Given the description of an element on the screen output the (x, y) to click on. 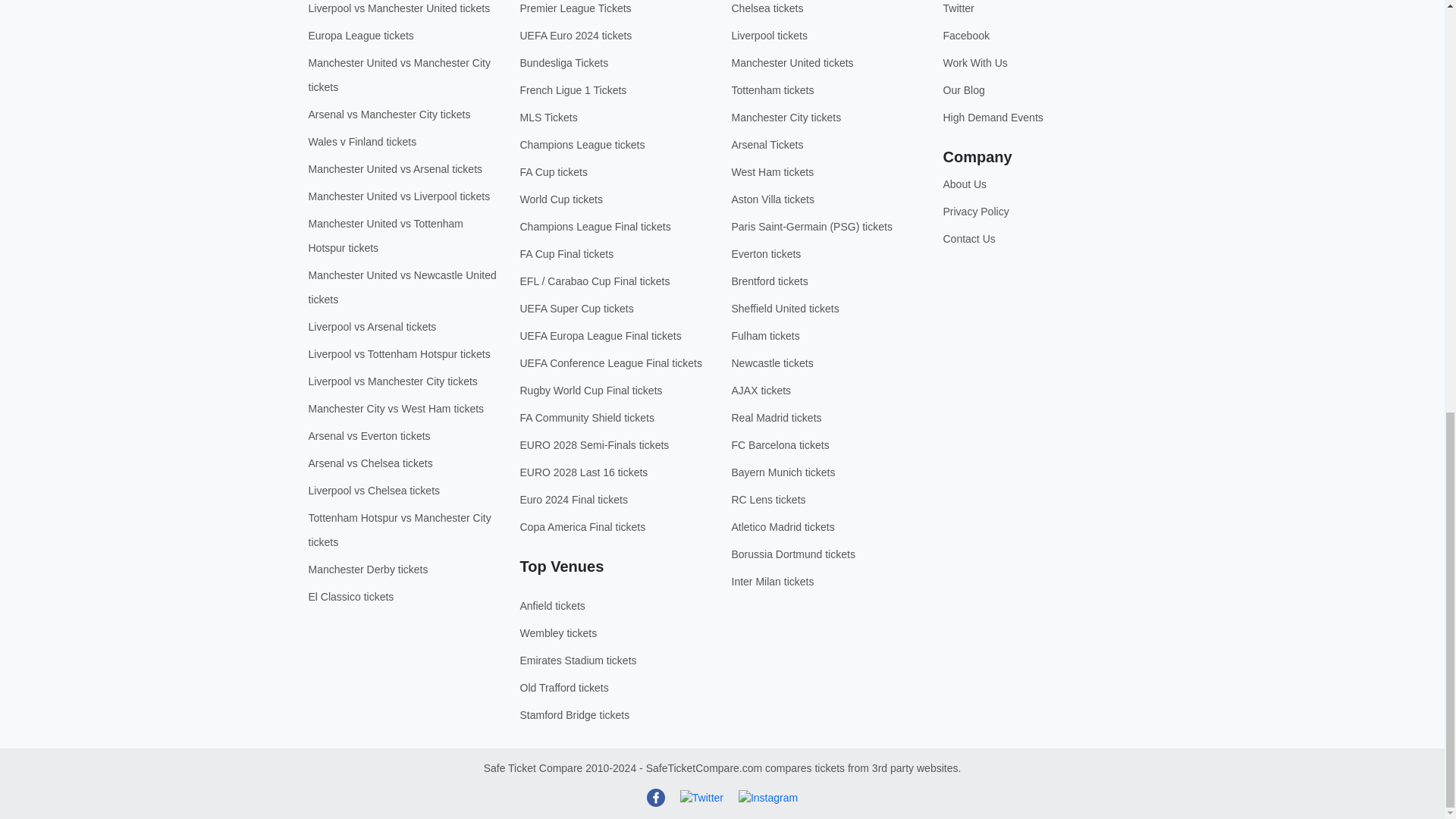
Liverpool vs Manchester City tickets (392, 381)
Liverpool vs Tottenham Hotspur tickets (398, 354)
Arsenal vs Manchester City tickets (388, 114)
Manchester United vs Liverpool tickets (398, 8)
Manchester United vs Newcastle United tickets (401, 287)
Manchester United vs Manchester City tickets (398, 74)
Arsenal vs Chelsea tickets (369, 463)
Manchester United vs Liverpool tickets (398, 196)
El Classico tickets (350, 596)
UEFA Europa League tickets (360, 35)
Arsenal vs Everton tickets (368, 435)
Manchester Derby tickets (367, 569)
Liverpool vs Chelsea tickets (373, 490)
Manchester City vs West Ham tickets (395, 408)
Manchester United vs Tottenham Hotspur tickets (385, 235)
